Given the description of an element on the screen output the (x, y) to click on. 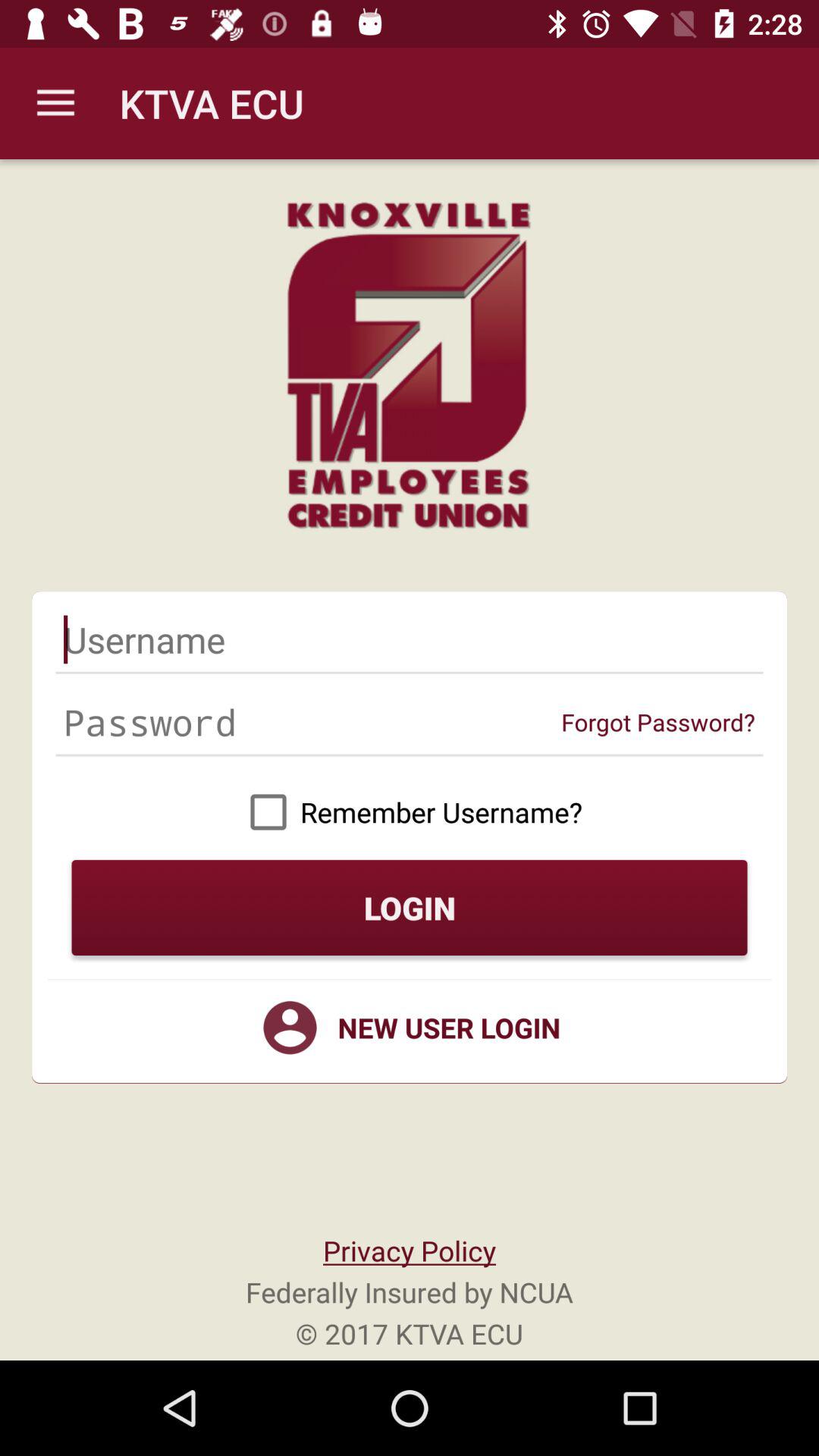
press the forgot password? item (658, 721)
